Given the description of an element on the screen output the (x, y) to click on. 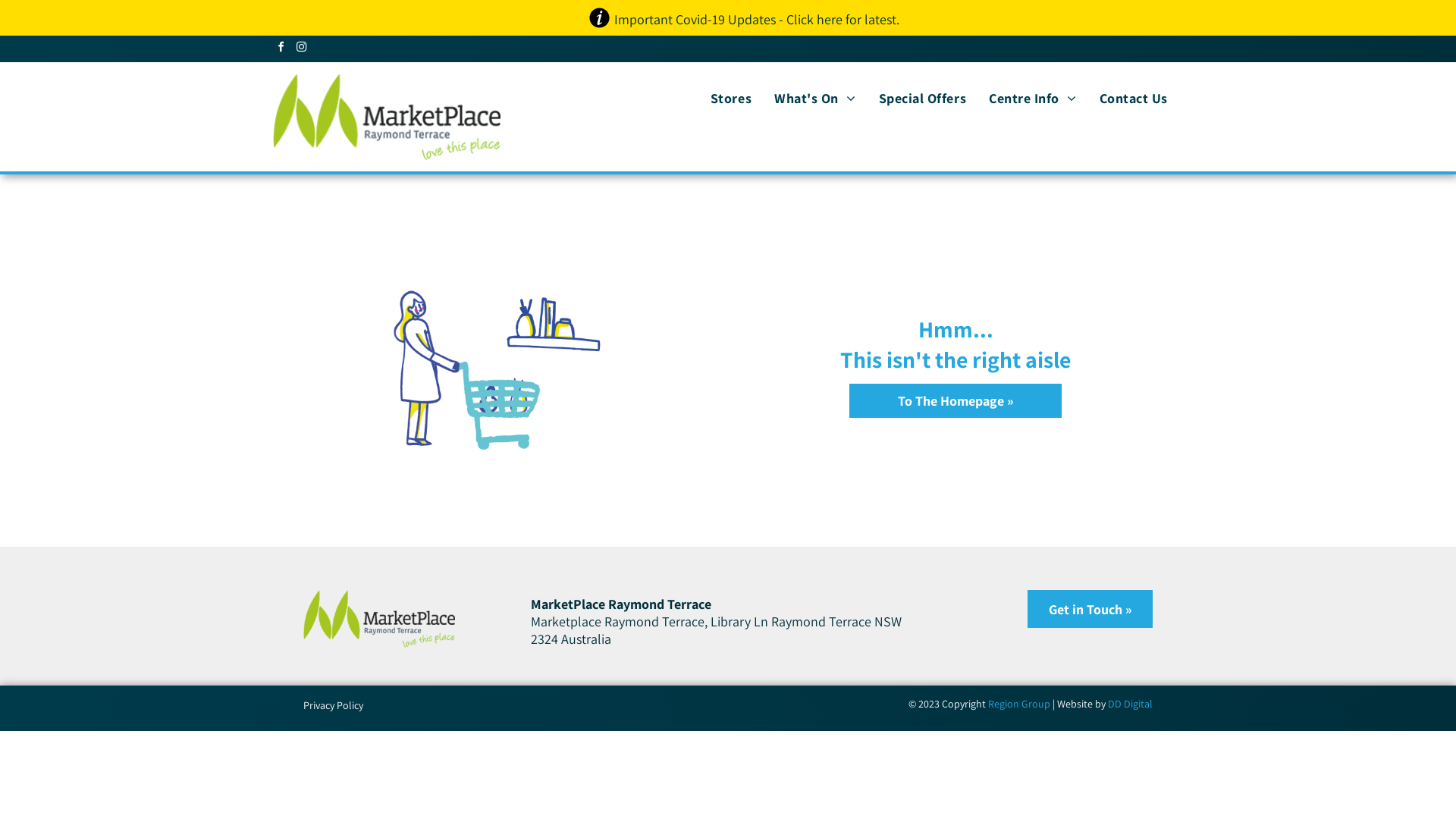
Special Offers Element type: text (922, 97)
Contact Us Element type: text (1133, 97)
Privacy Policy Element type: text (333, 705)
Click here for latest Element type: text (841, 19)
. Element type: text (897, 19)
Region Group Element type: text (1019, 703)
DD Digital Element type: text (1129, 703)
What's On Element type: text (814, 97)
Centre Info Element type: text (1032, 97)
Stores Element type: text (730, 97)
